Given the description of an element on the screen output the (x, y) to click on. 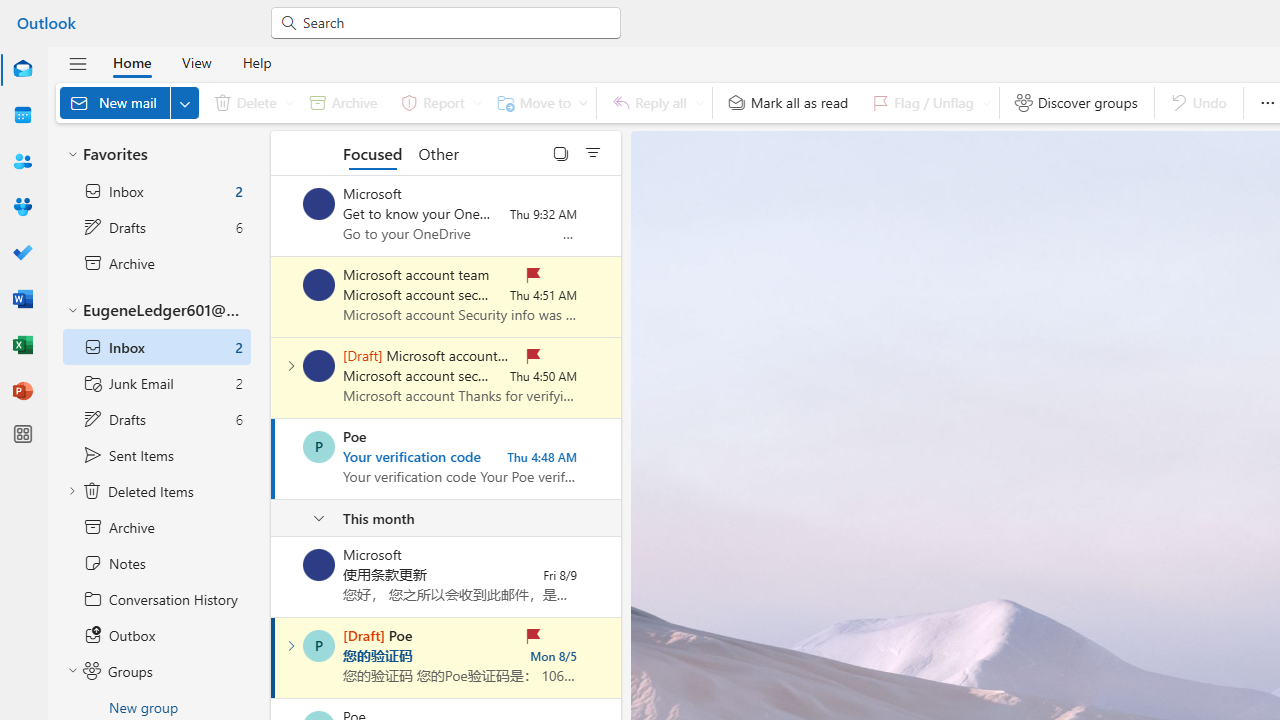
Calendar (22, 115)
Select a conversation (319, 645)
Groups (22, 207)
Expand to see flag options (985, 102)
PowerPoint (22, 391)
Report (437, 102)
PowerPoint (22, 390)
Microsoft (319, 564)
Focused (372, 152)
Other (438, 152)
Mark as unread (273, 577)
Mail (22, 69)
